Given the description of an element on the screen output the (x, y) to click on. 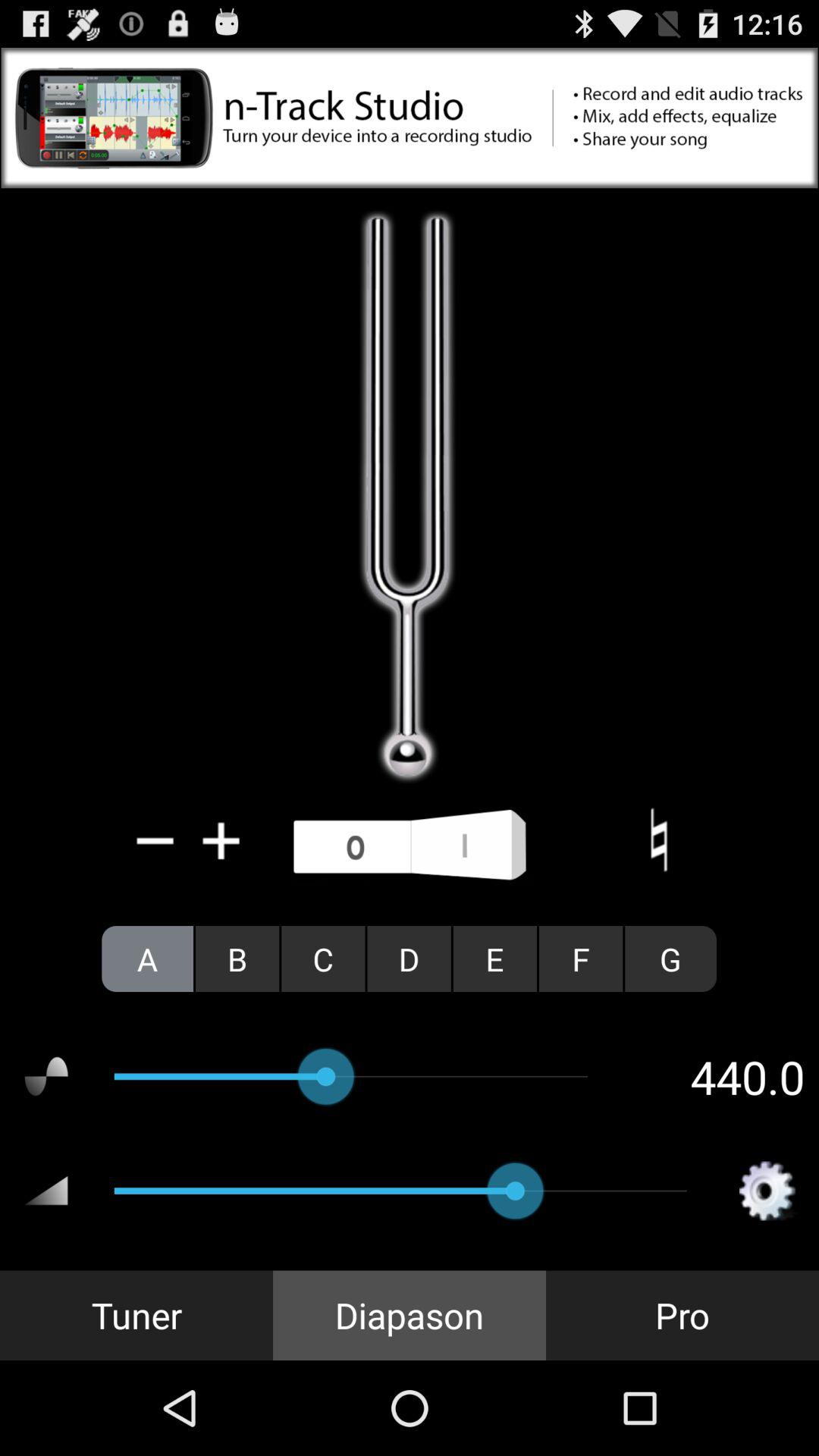
increase/more (221, 840)
